Given the description of an element on the screen output the (x, y) to click on. 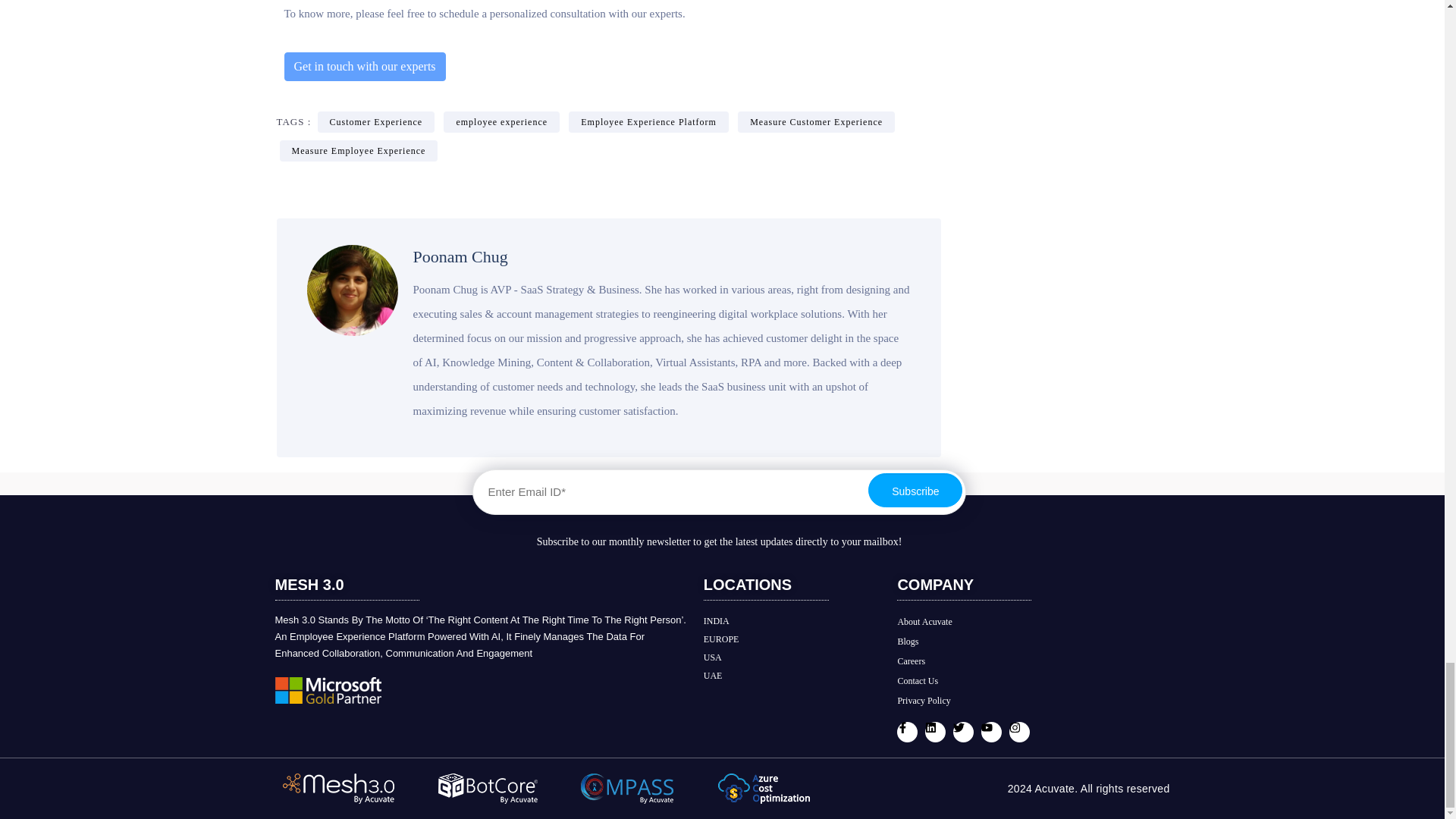
Subscribe (914, 489)
